Given the description of an element on the screen output the (x, y) to click on. 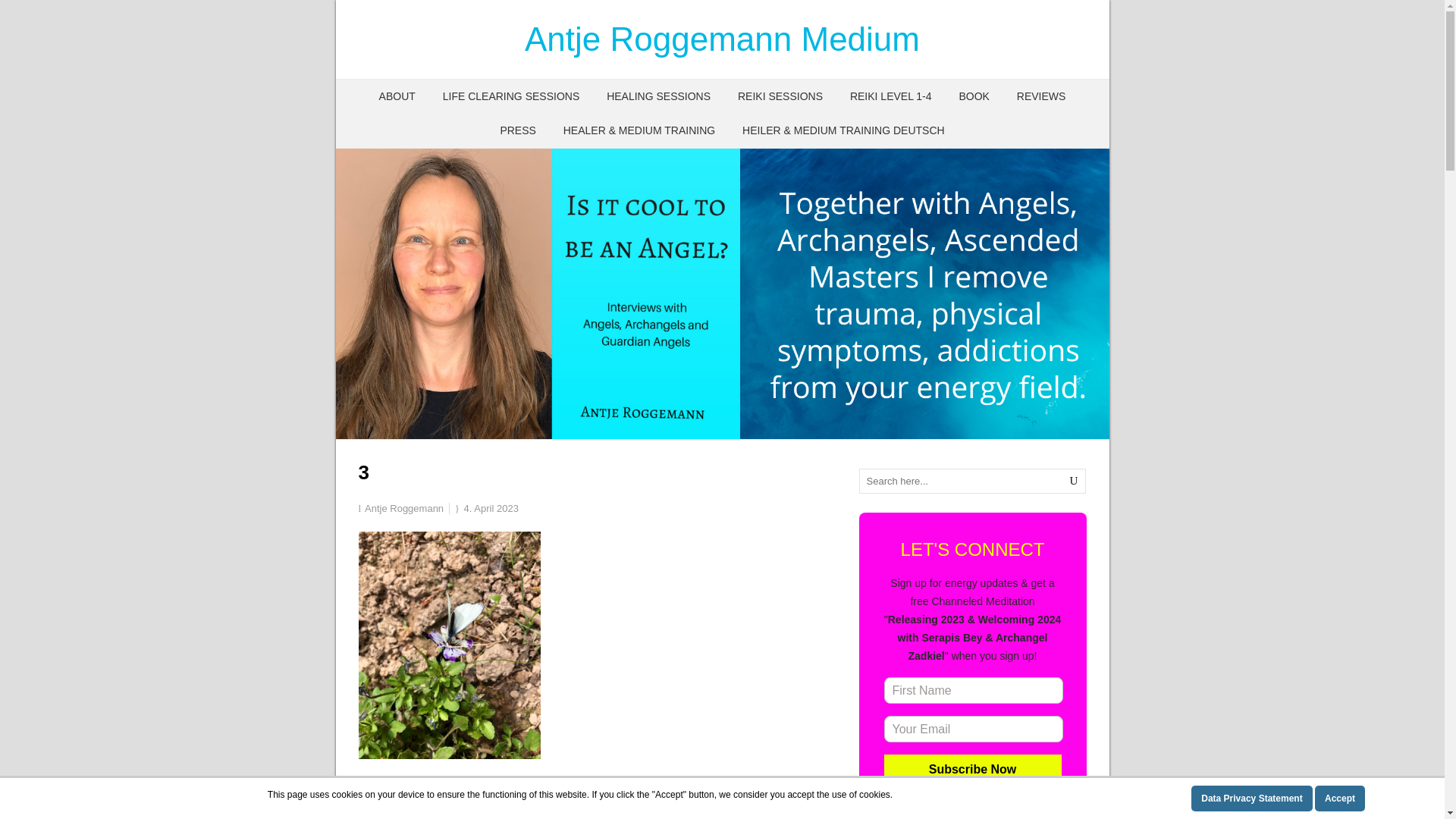
Posts by Antje Roggemann (404, 507)
BOOK (973, 96)
U (1073, 480)
Subscribe Now (972, 769)
REIKI LEVEL 1-4 (890, 96)
PRESS (517, 130)
Antje Roggemann Medium (722, 38)
LIFE CLEARING SESSIONS (511, 96)
REVIEWS (1041, 96)
HEALING SESSIONS (658, 96)
Antje Roggemann (404, 507)
ABOUT (397, 96)
U (1073, 480)
U (1073, 480)
Subscribe Now (972, 769)
